Given the description of an element on the screen output the (x, y) to click on. 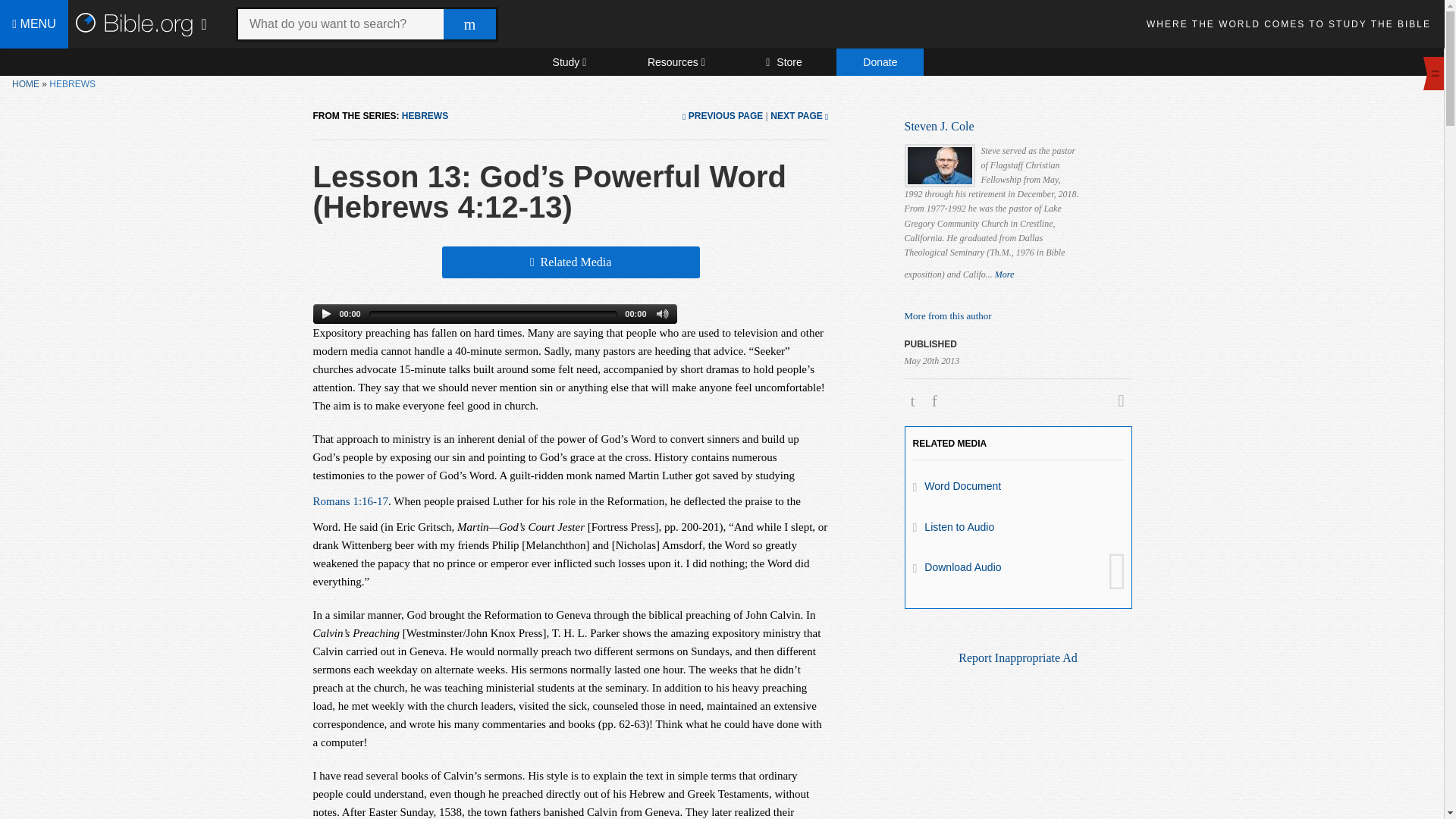
MENU (34, 24)
m (470, 24)
Resources (676, 62)
m (470, 24)
Study (568, 62)
